Given the description of an element on the screen output the (x, y) to click on. 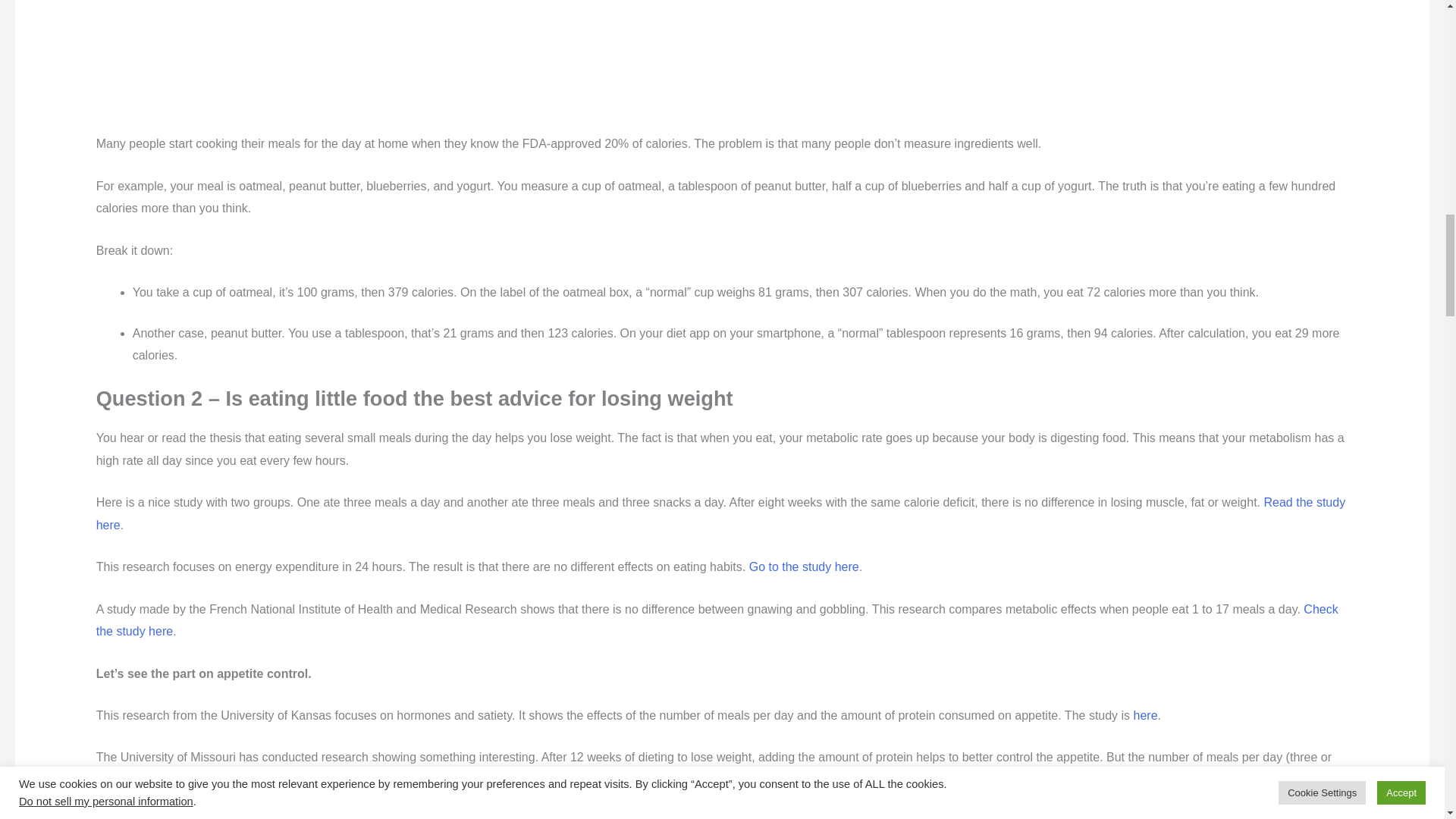
Go to the study here (804, 566)
Read the study here (720, 513)
Check the study here (717, 620)
Advertisement (470, 66)
here (1145, 715)
Go to the study (1294, 816)
Read the study here (284, 779)
